Given the description of an element on the screen output the (x, y) to click on. 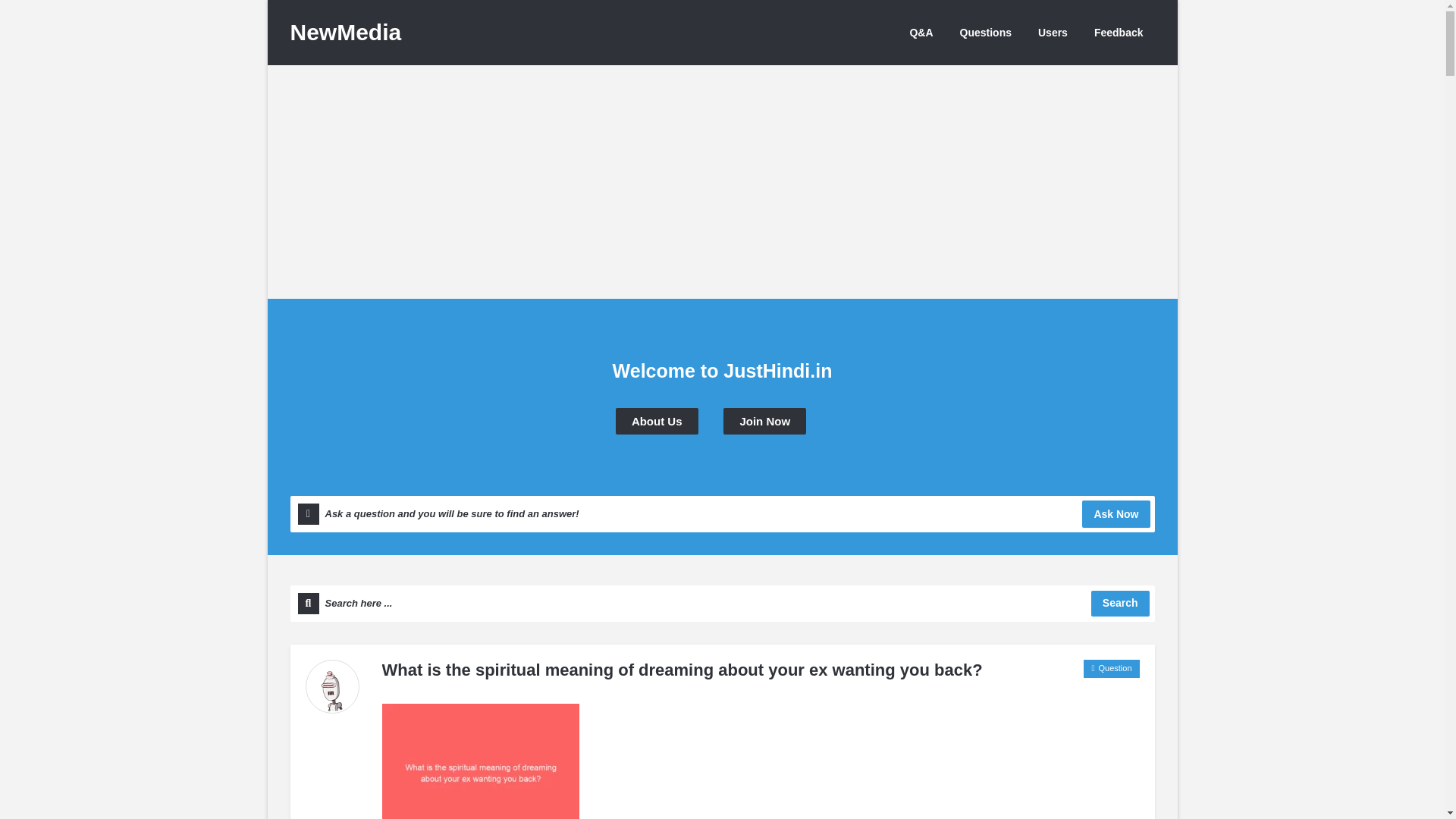
NewMedia (345, 32)
Users (1052, 31)
About Us (656, 420)
Search here ... (721, 603)
Feedback (1118, 31)
Join Now (764, 420)
Ask Now (1115, 513)
Questions (986, 31)
Search here ... (721, 603)
NewMedia (345, 32)
Search (1120, 603)
Ask a question and you will be sure to find an answer! (721, 514)
